Given the description of an element on the screen output the (x, y) to click on. 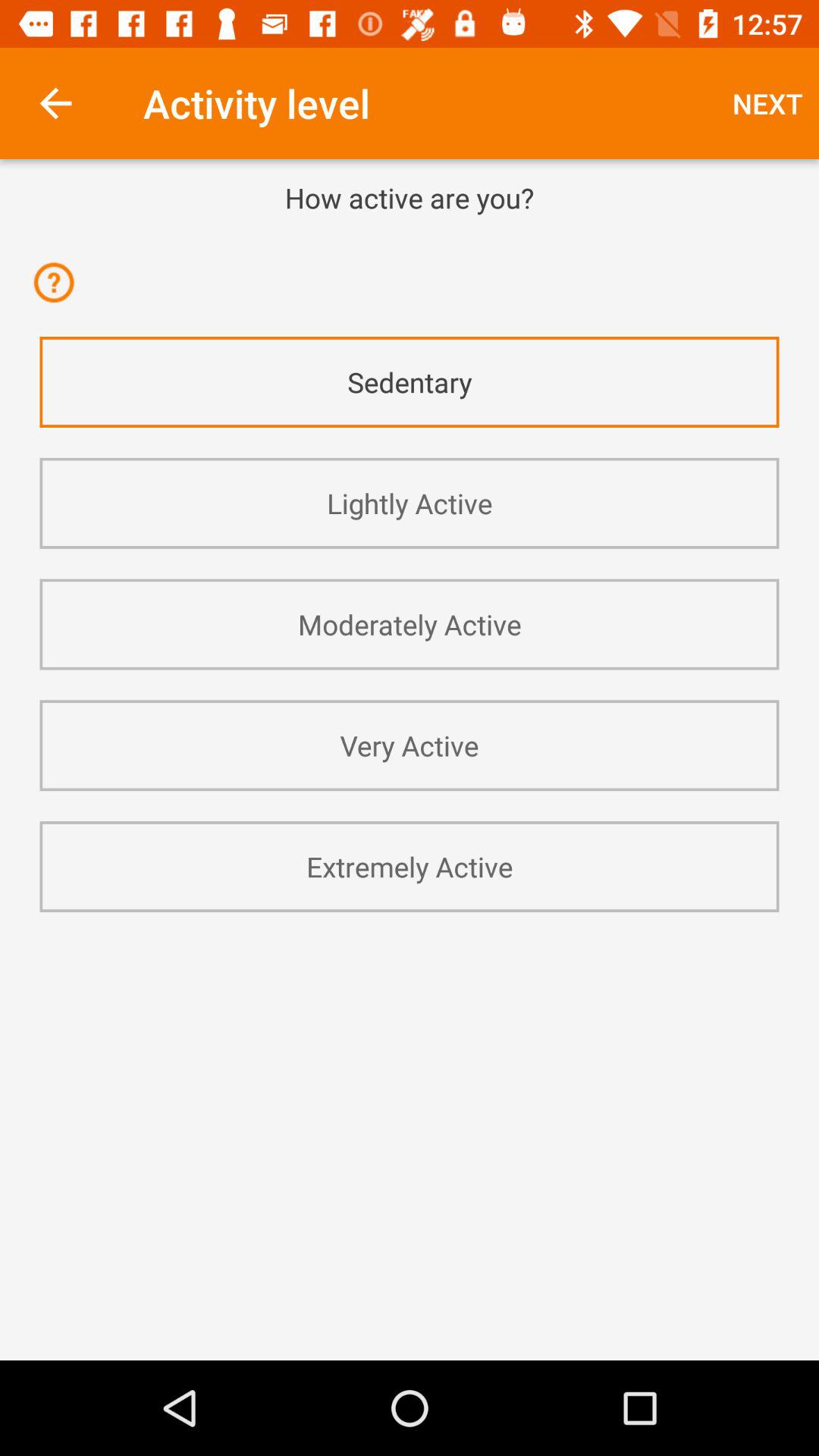
scroll to moderately active icon (409, 624)
